Given the description of an element on the screen output the (x, y) to click on. 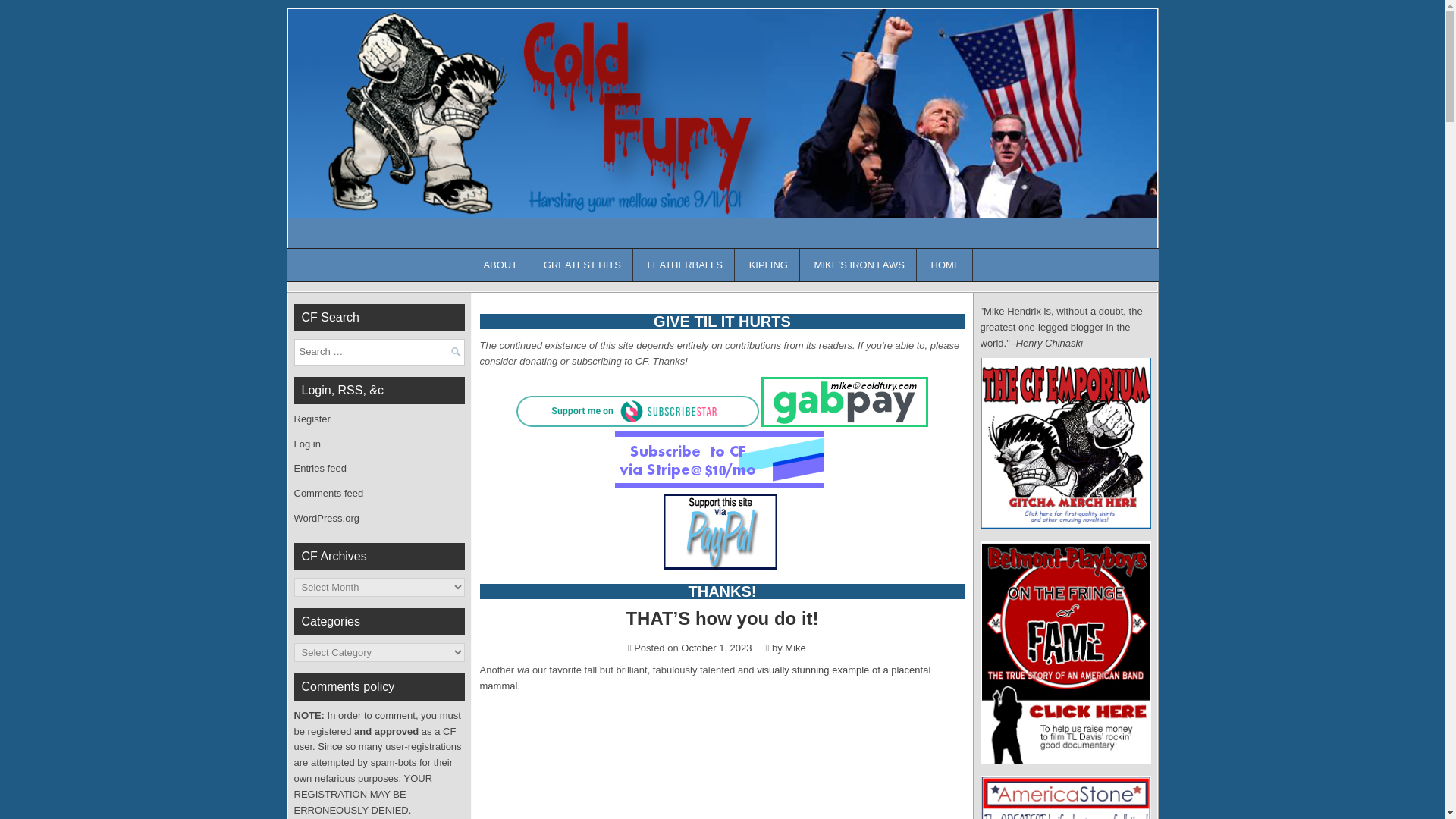
GREATEST HITS (582, 264)
LEATHERBALLS (685, 264)
YouTube video player (721, 760)
Type and hit enter (379, 352)
ABOUT (500, 264)
